Given the description of an element on the screen output the (x, y) to click on. 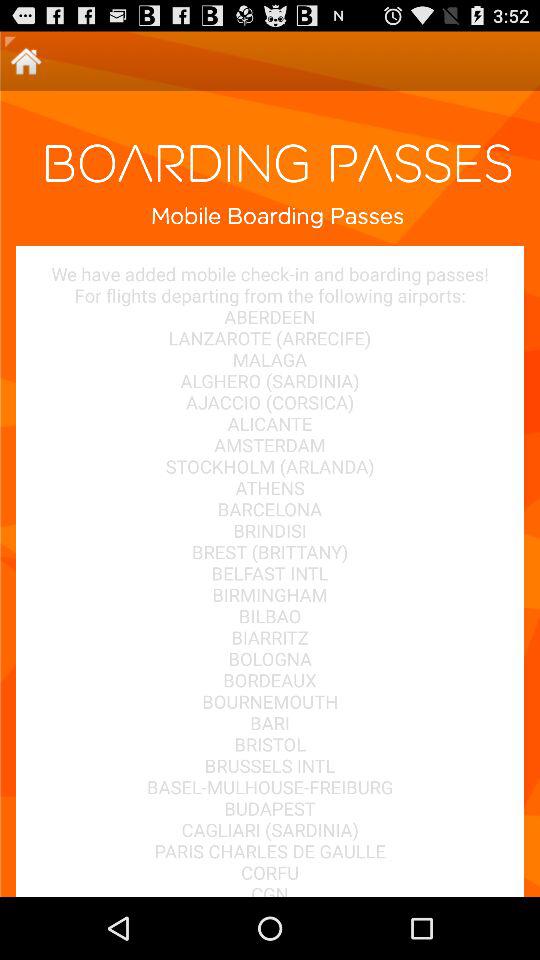
go home (26, 60)
